Given the description of an element on the screen output the (x, y) to click on. 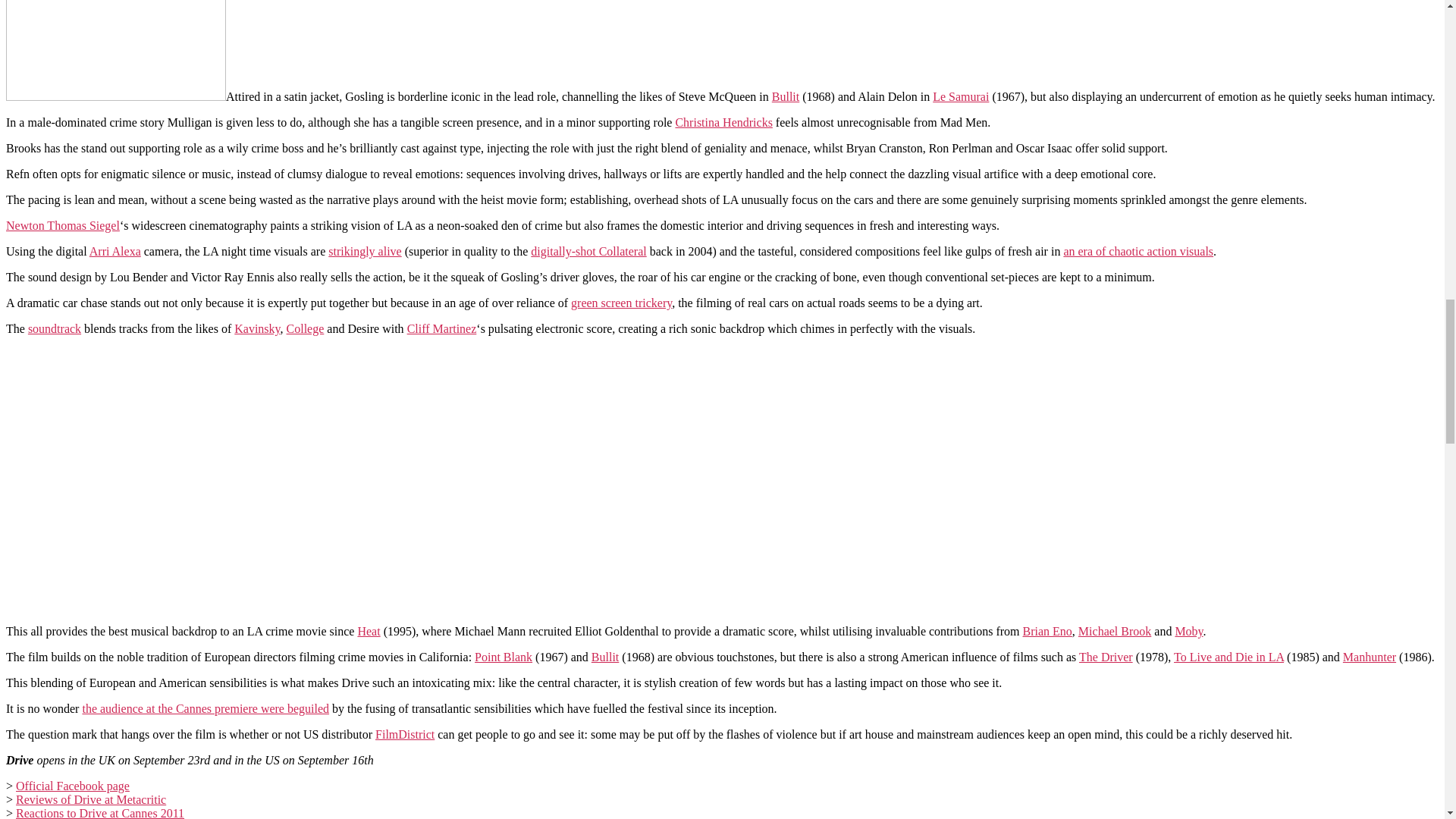
Newton Thomas Siegel (62, 225)
an era of chaotic action visuals (1137, 250)
College (305, 328)
Bullit (785, 96)
Arri Alexa (114, 250)
Collateral (622, 250)
Le Samurai (960, 96)
Kavinsky (256, 328)
soundtrack (54, 328)
green screen trickery (620, 302)
